Given the description of an element on the screen output the (x, y) to click on. 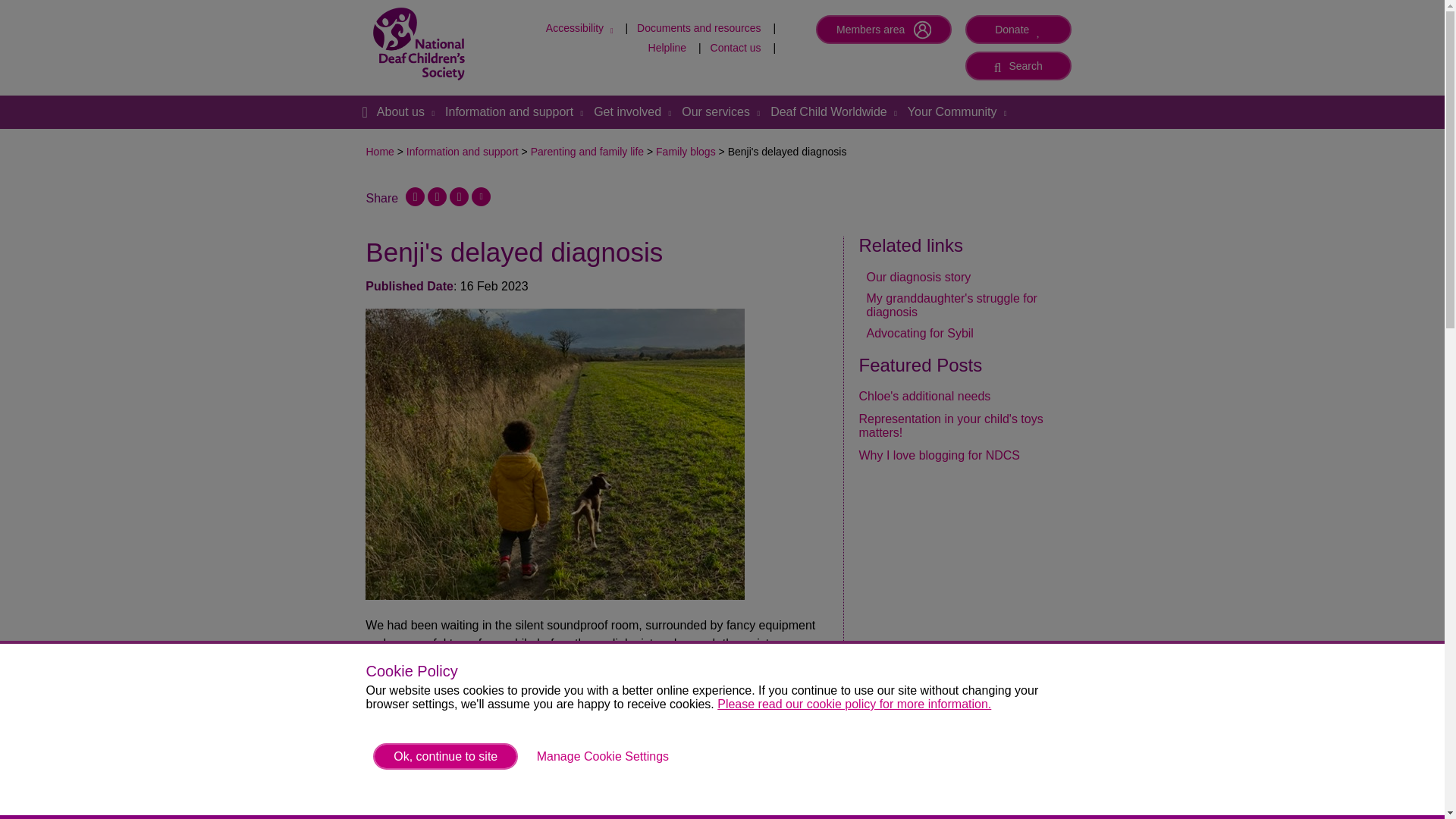
Launch Login (883, 29)
Share this page on Twitter (437, 196)
Contact us (735, 47)
Share this page on Facebook (415, 196)
Ok, continue to site (445, 755)
Donate (1018, 29)
Manage Cookie Settings (1018, 65)
Please read our cookie policy for more information. (580, 28)
Share this page by email (602, 756)
Home (854, 703)
Search our site (480, 196)
Helpline (364, 111)
Documents and resources (1018, 65)
